Given the description of an element on the screen output the (x, y) to click on. 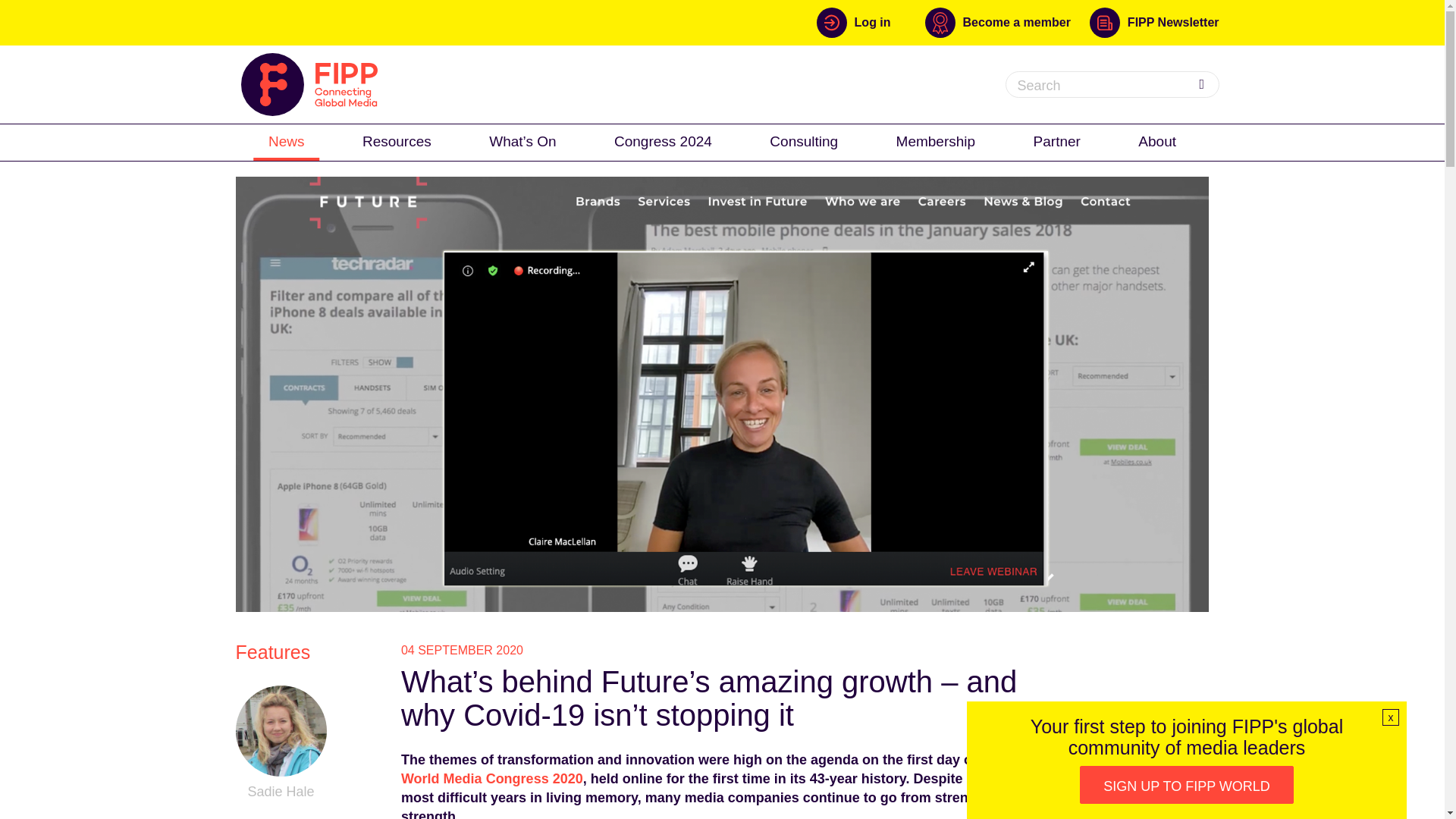
FIPP World Media Congress 2020 (705, 769)
News (286, 141)
Become a member (1006, 22)
Consulting (803, 141)
Resources (396, 141)
Membership (935, 141)
About (1156, 141)
Partner (1056, 141)
FIPP Newsletter (1154, 22)
Congress 2024 (662, 141)
